Given the description of an element on the screen output the (x, y) to click on. 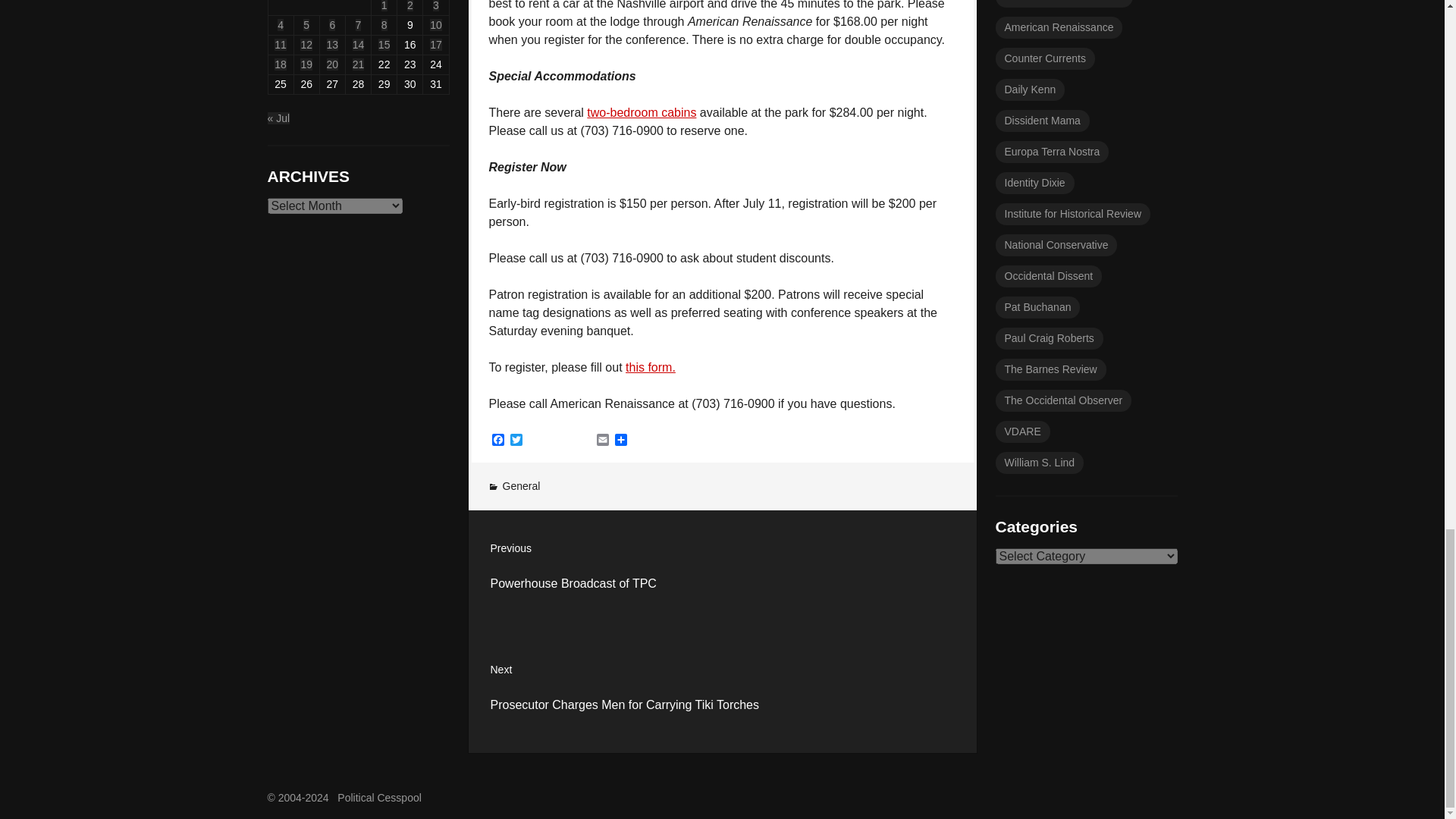
American Renaissance (1058, 27)
Facebook (496, 440)
Twitter (515, 440)
Facebook (496, 440)
General (521, 485)
Twitter (515, 440)
this form. (722, 570)
Email (650, 367)
